Given the description of an element on the screen output the (x, y) to click on. 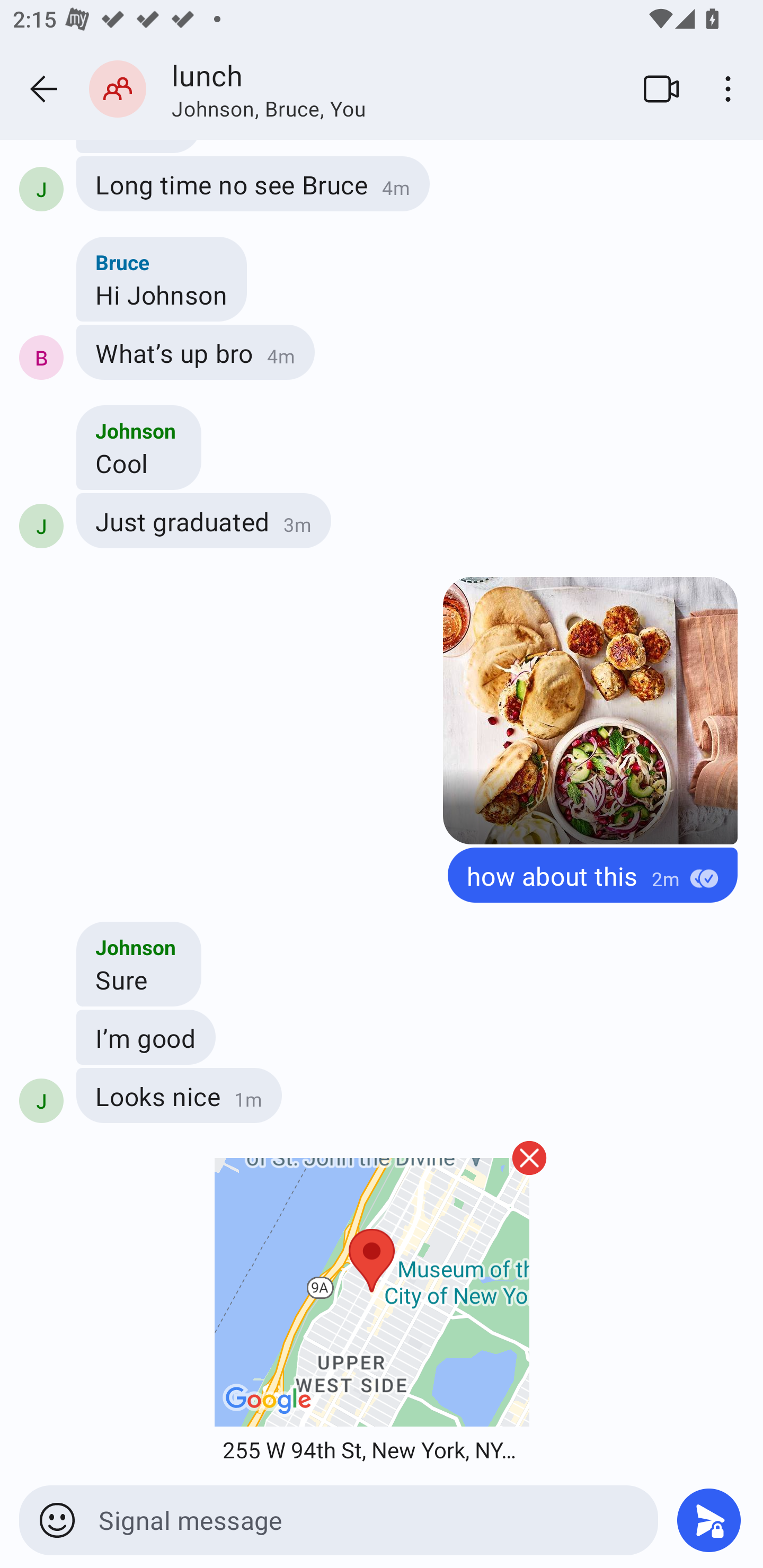
Send message (708, 1520)
